Given the description of an element on the screen output the (x, y) to click on. 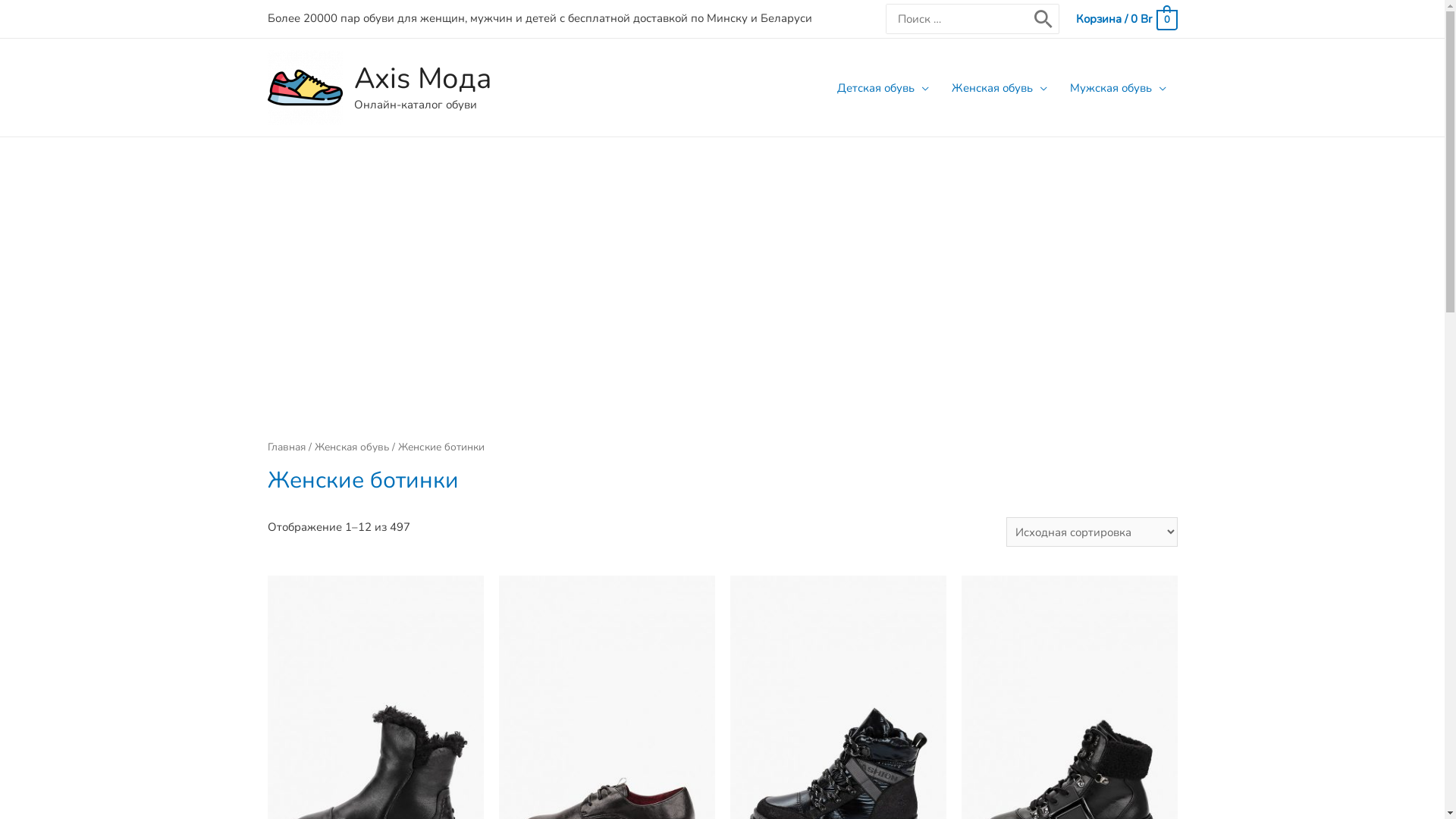
Advertisement Element type: hover (721, 264)
